Given the description of an element on the screen output the (x, y) to click on. 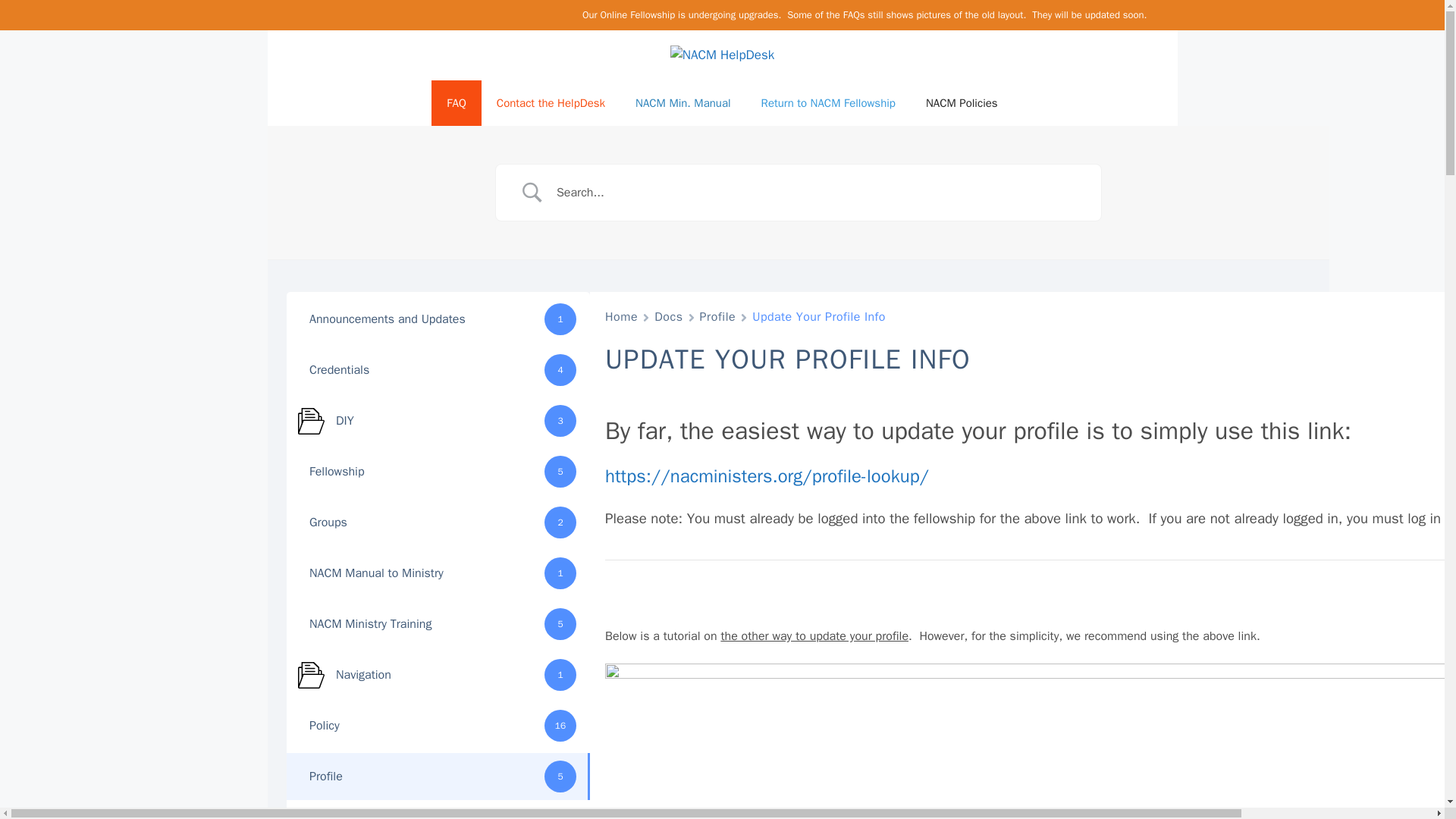
NACM Min. Manual (682, 103)
FAQ (455, 103)
Docs (667, 317)
Return to NACM Fellowship (828, 103)
Profile (718, 317)
NACM Policies (962, 103)
Contact the HelpDesk (550, 103)
Home (621, 317)
